Given the description of an element on the screen output the (x, y) to click on. 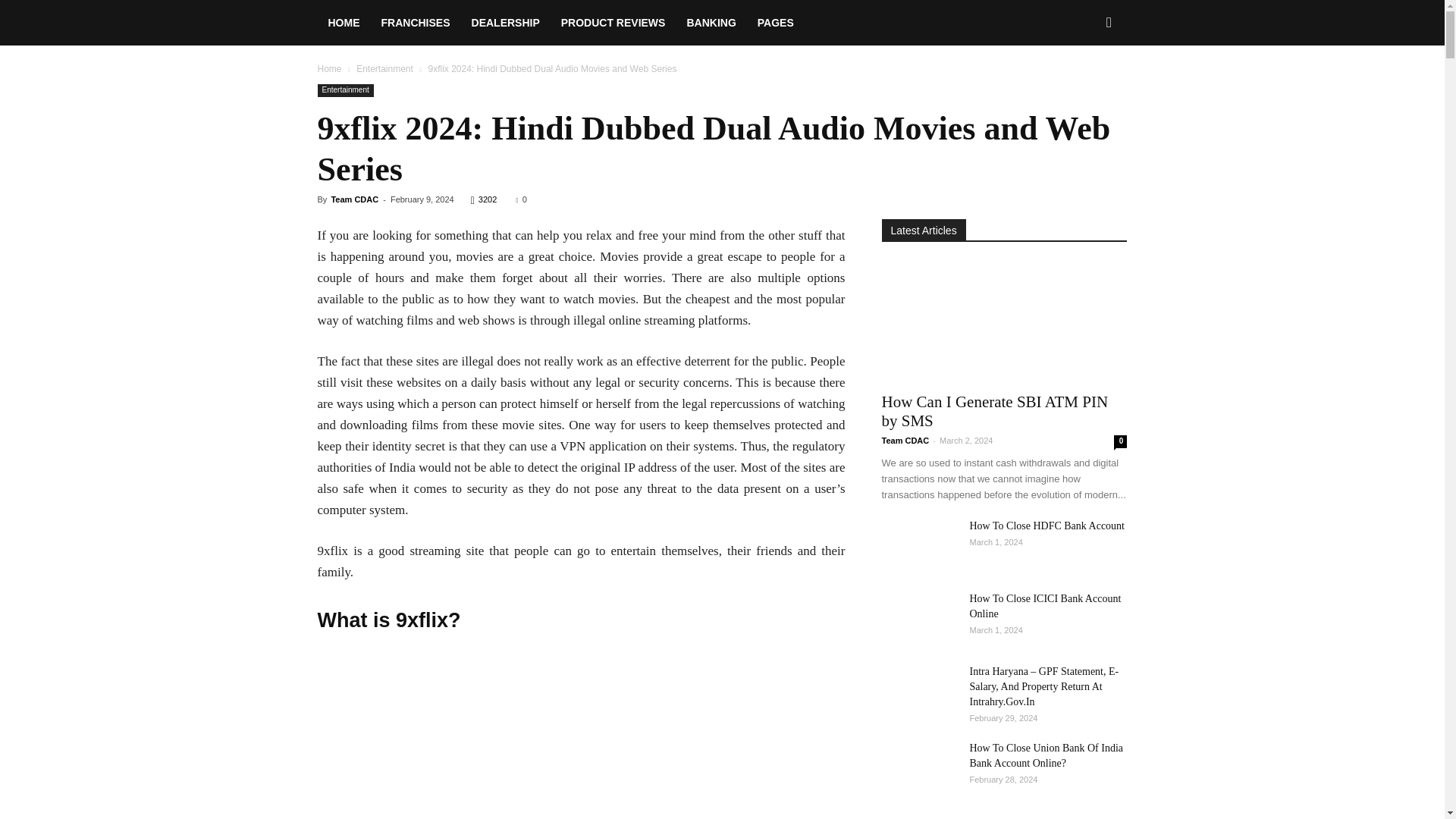
Team CDAC (354, 198)
Entertainment (384, 68)
Entertainment (344, 90)
DEALERSHIP (505, 22)
Search (1085, 87)
HOME (343, 22)
Home (328, 68)
0 (520, 198)
BANKING (710, 22)
PAGES (775, 22)
How Can I Generate SBI ATM PIN by SMS (994, 411)
How To Close ICICI Bank Account Online (918, 617)
PRODUCT REVIEWS (613, 22)
How Can I Generate SBI ATM PIN by SMS (1003, 322)
